Given the description of an element on the screen output the (x, y) to click on. 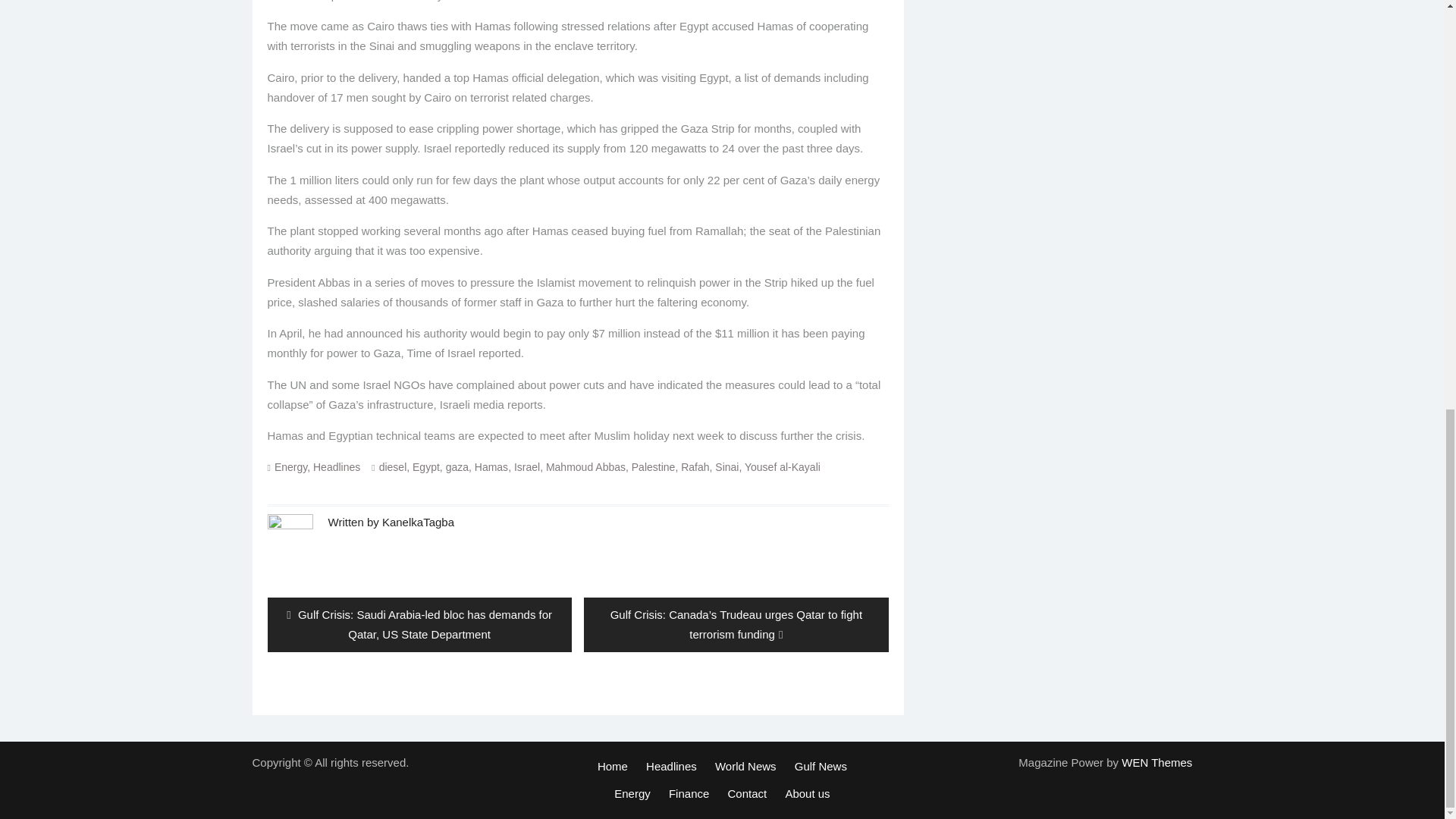
Egypt (425, 467)
Energy (291, 467)
Rafah (695, 467)
Israel (526, 467)
Posts by KanelkaTagba (417, 521)
Mahmoud Abbas (586, 467)
Yousef al-Kayali (782, 467)
Headlines (336, 467)
Hamas (491, 467)
diesel (392, 467)
Palestine (653, 467)
Sinai (726, 467)
gaza (456, 467)
